Given the description of an element on the screen output the (x, y) to click on. 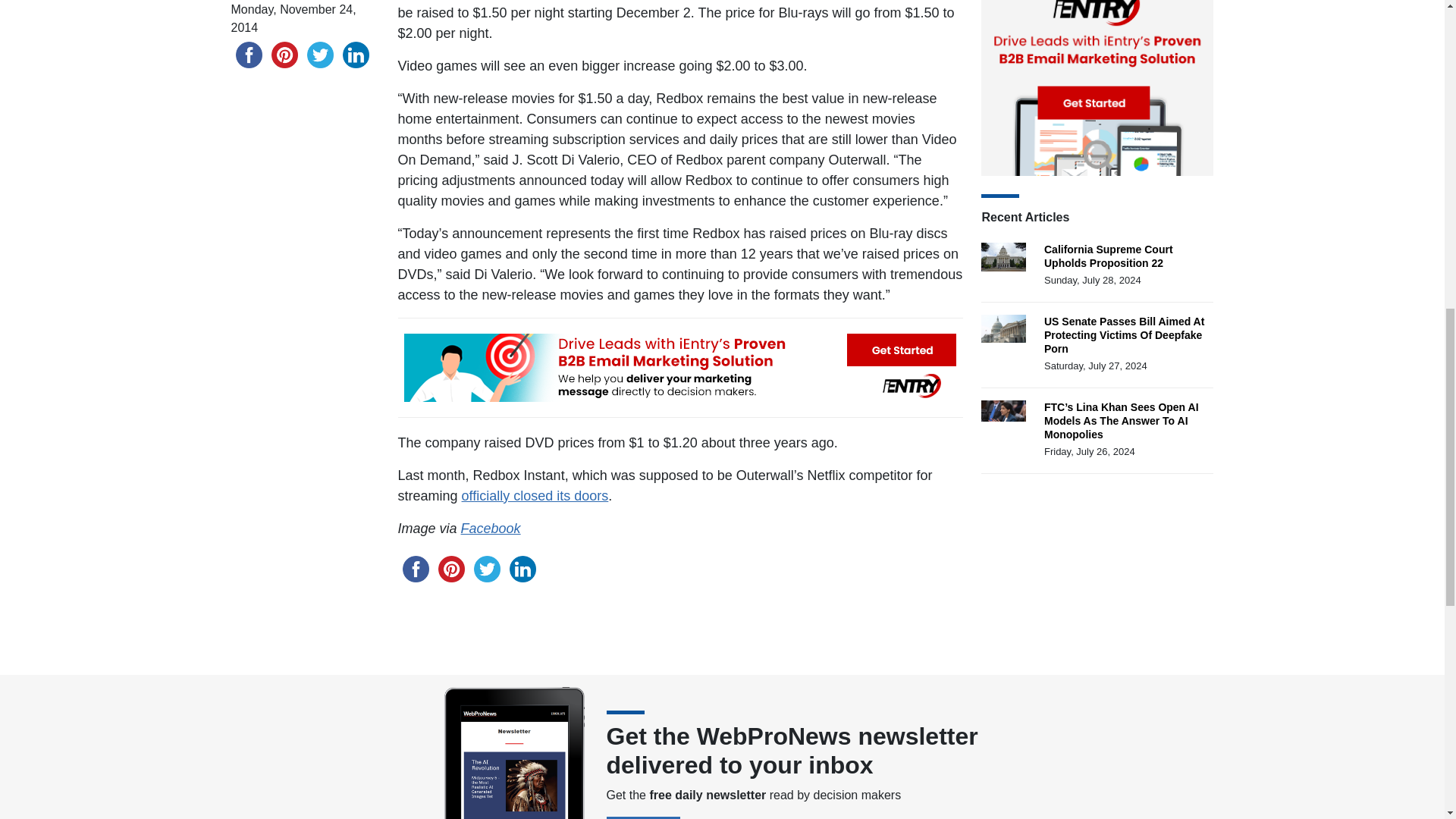
facebook (414, 568)
facebook (248, 54)
twitter (319, 54)
linkedin (355, 54)
twitter (485, 568)
pinterest (284, 54)
pinterest (450, 568)
